Given the description of an element on the screen output the (x, y) to click on. 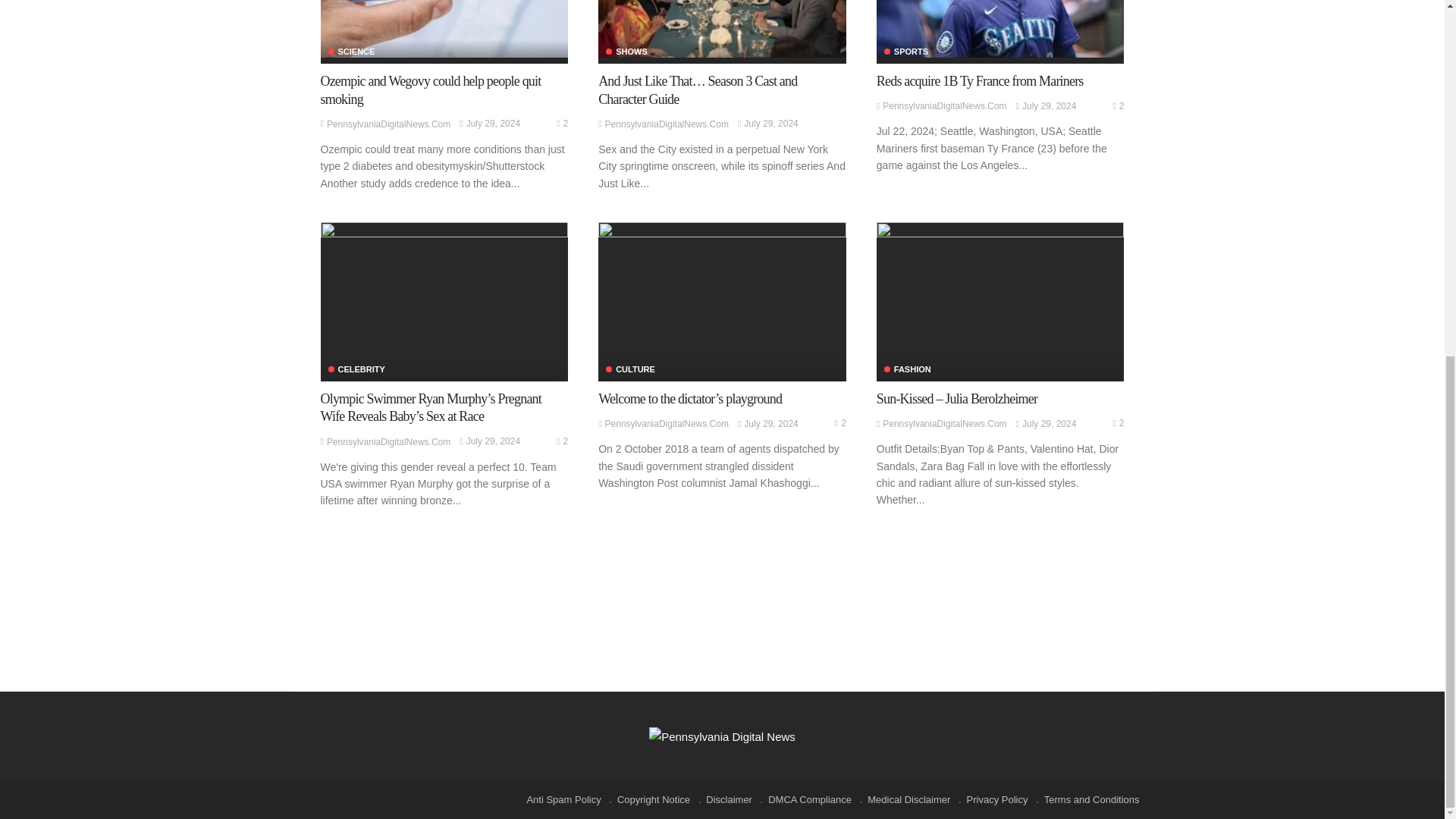
Ozempic and Wegovy could help people quit smoking (430, 89)
Ozempic and Wegovy could help people quit smoking (443, 28)
SHOWS (626, 51)
SPORTS (905, 51)
Reds acquire 1B Ty France from Mariners (1000, 28)
SCIENCE (350, 51)
Reds acquire 1B Ty France from Mariners (979, 80)
